Given the description of an element on the screen output the (x, y) to click on. 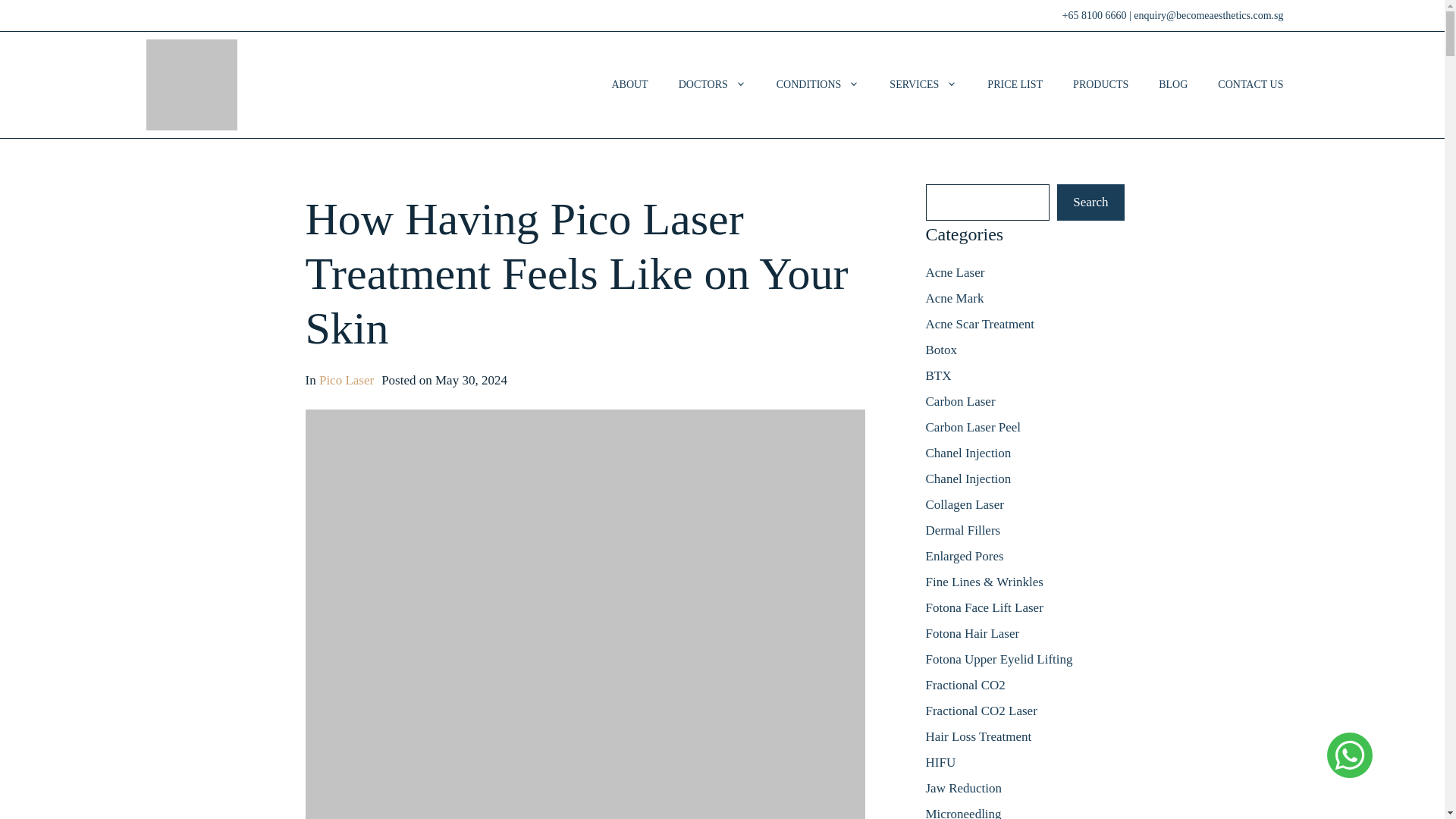
ABOUT (628, 84)
CONDITIONS (818, 84)
SERVICES (923, 84)
DOCTORS (712, 84)
